Given the description of an element on the screen output the (x, y) to click on. 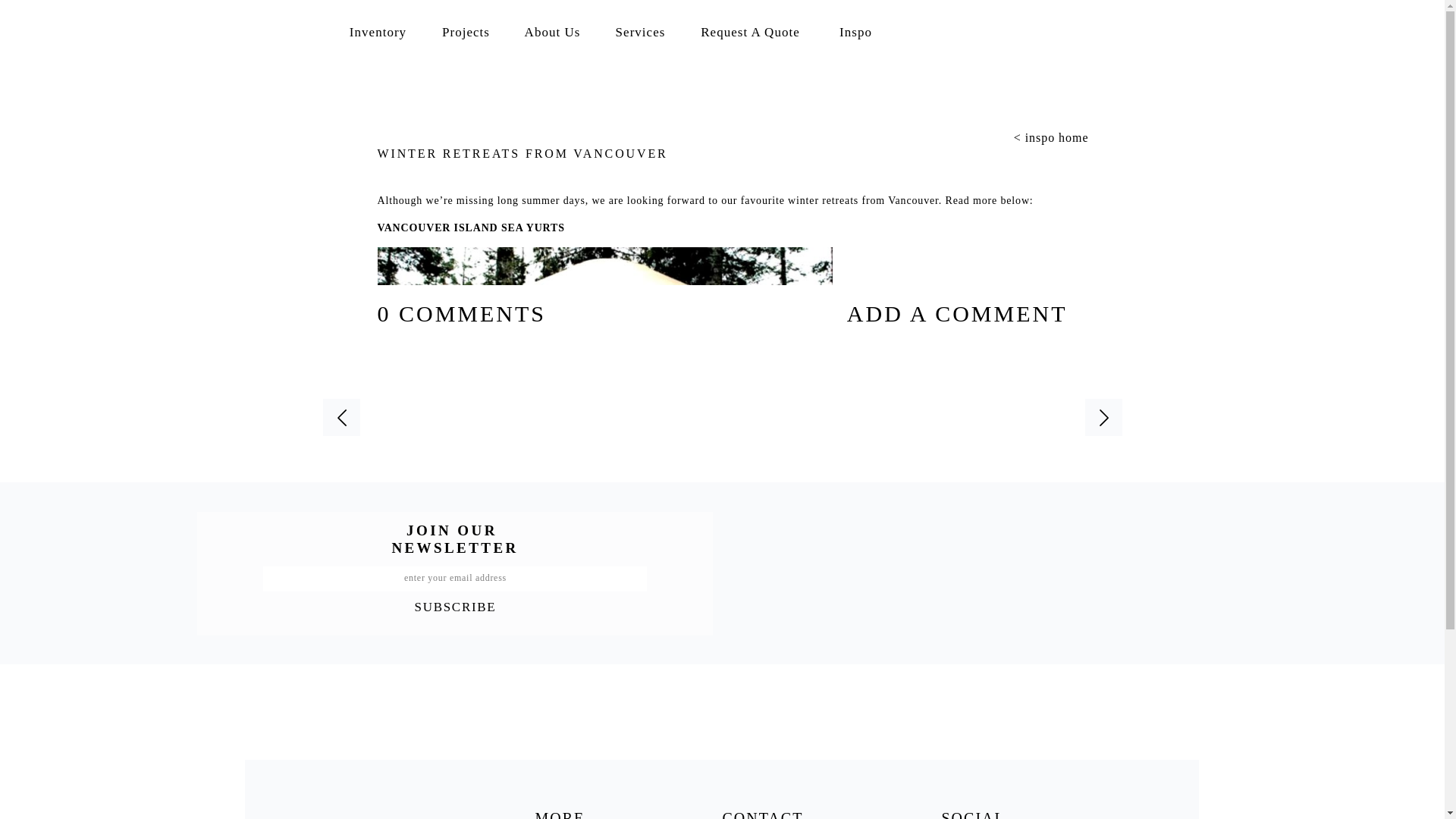
SUBSCRIBE (454, 605)
Projects (465, 30)
Request A Quote (750, 35)
Services (640, 30)
ADD A COMMENT (920, 313)
Glamping Hub (644, 573)
Inventory (377, 30)
Inspo (855, 35)
This (916, 573)
About Us (552, 30)
0 COMMENTS (462, 313)
